Given the description of an element on the screen output the (x, y) to click on. 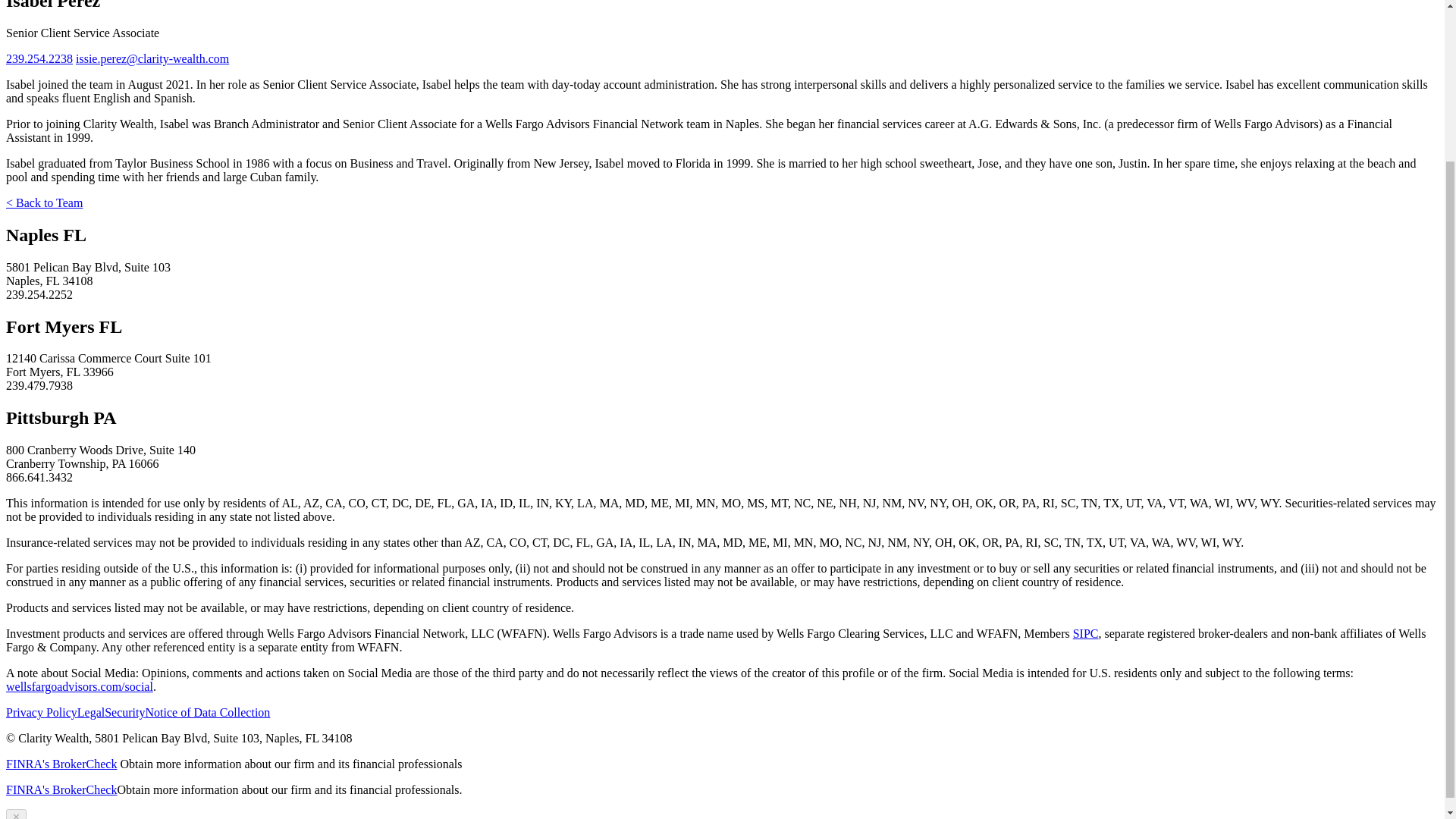
SIPC (1086, 633)
Privacy Policy (41, 712)
Legal (90, 712)
Security (124, 712)
Notice of Data Collection (207, 712)
FINRA's BrokerCheck (60, 789)
239.254.2238 (38, 58)
FINRA's BrokerCheck (60, 763)
